Given the description of an element on the screen output the (x, y) to click on. 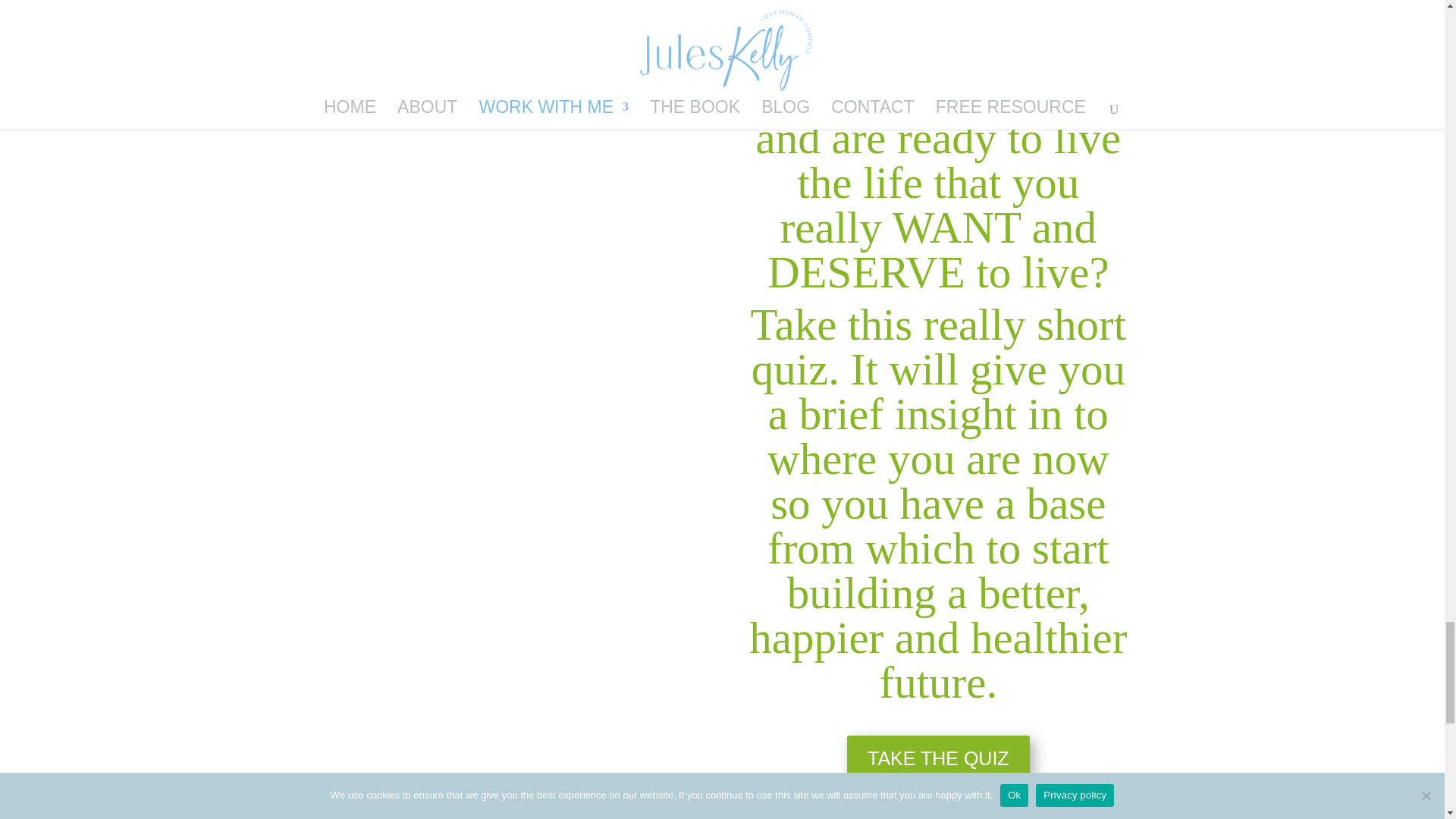
TAKE THE QUIZ (938, 758)
Take the Quiz (505, 64)
